Given the description of an element on the screen output the (x, y) to click on. 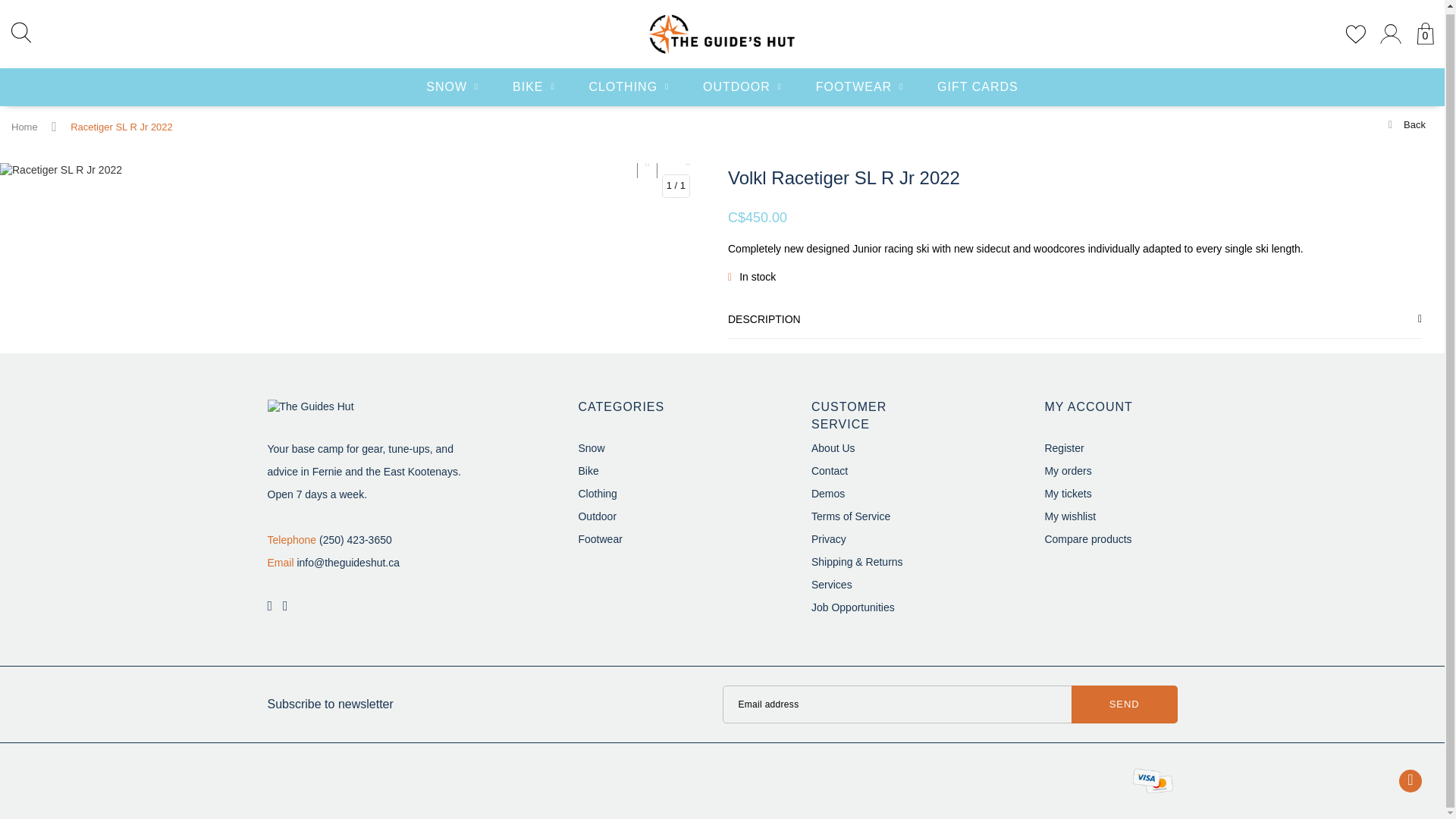
Subscribe (1124, 704)
My orders (1066, 470)
Home (24, 127)
Register (1063, 448)
My wishlist (1069, 516)
My tickets (1066, 493)
Gift Cards (977, 84)
